Given the description of an element on the screen output the (x, y) to click on. 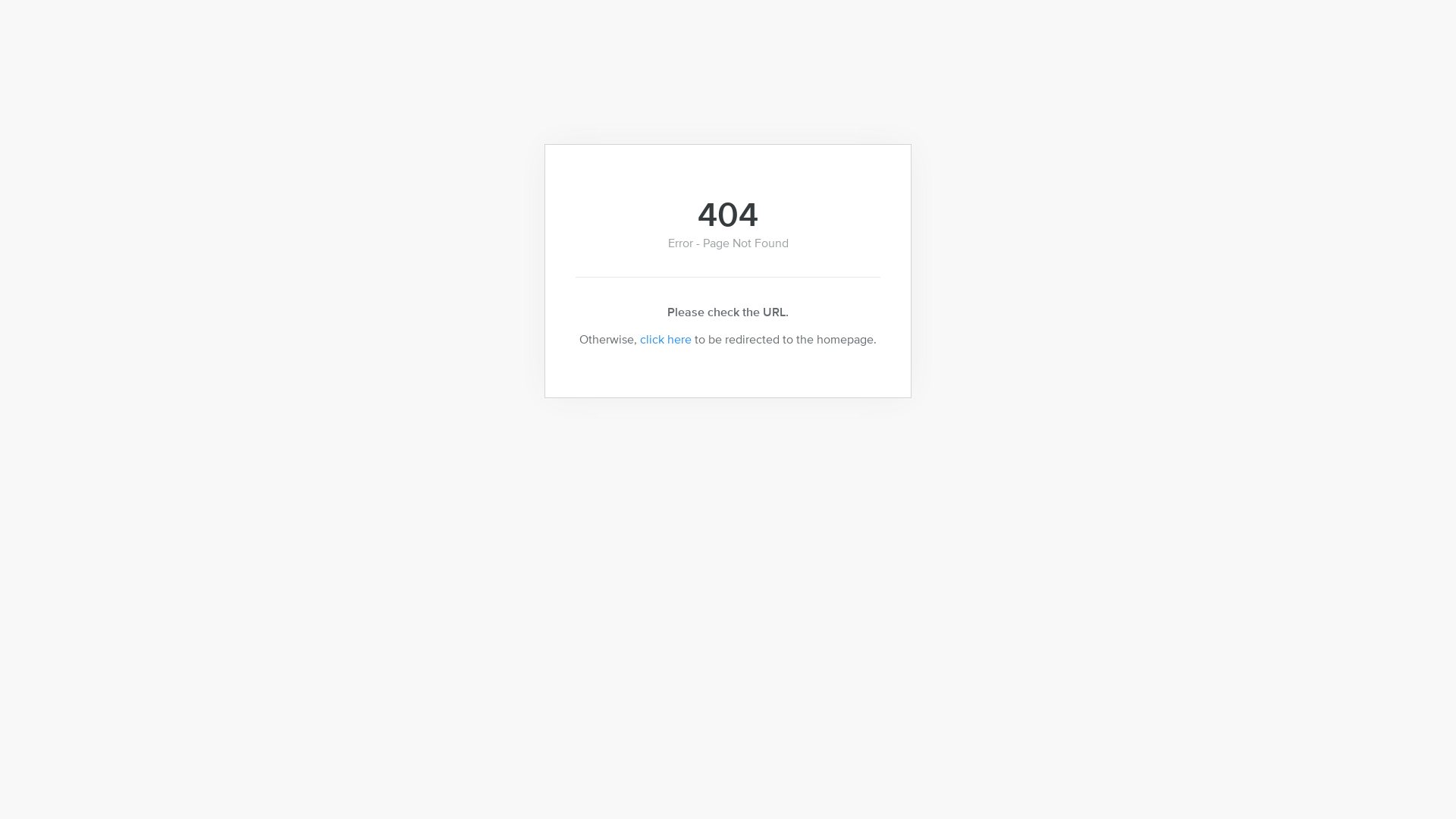
click here Element type: text (665, 338)
